Given the description of an element on the screen output the (x, y) to click on. 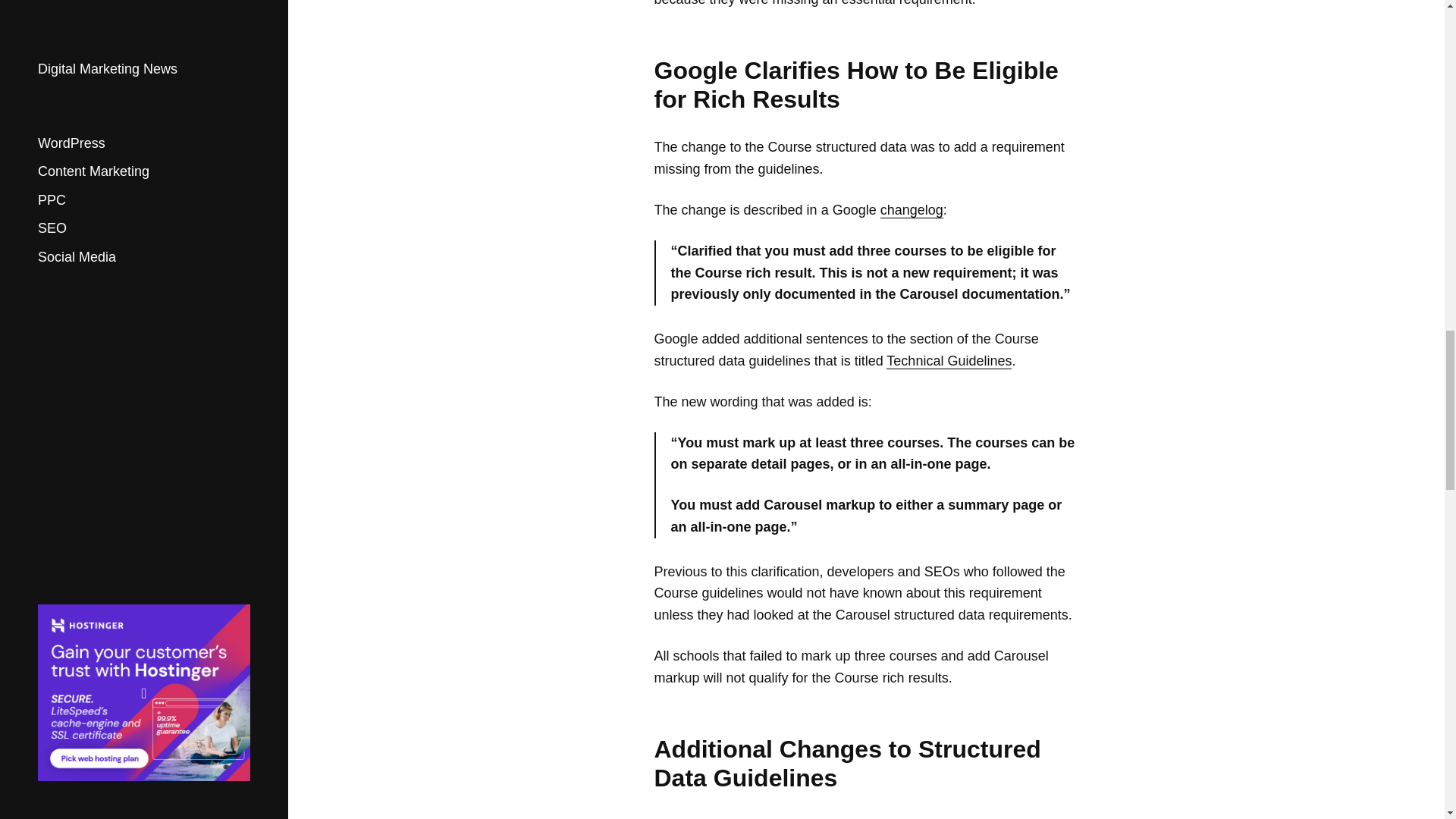
Technical Guidelines (948, 360)
changelog (911, 210)
